Given the description of an element on the screen output the (x, y) to click on. 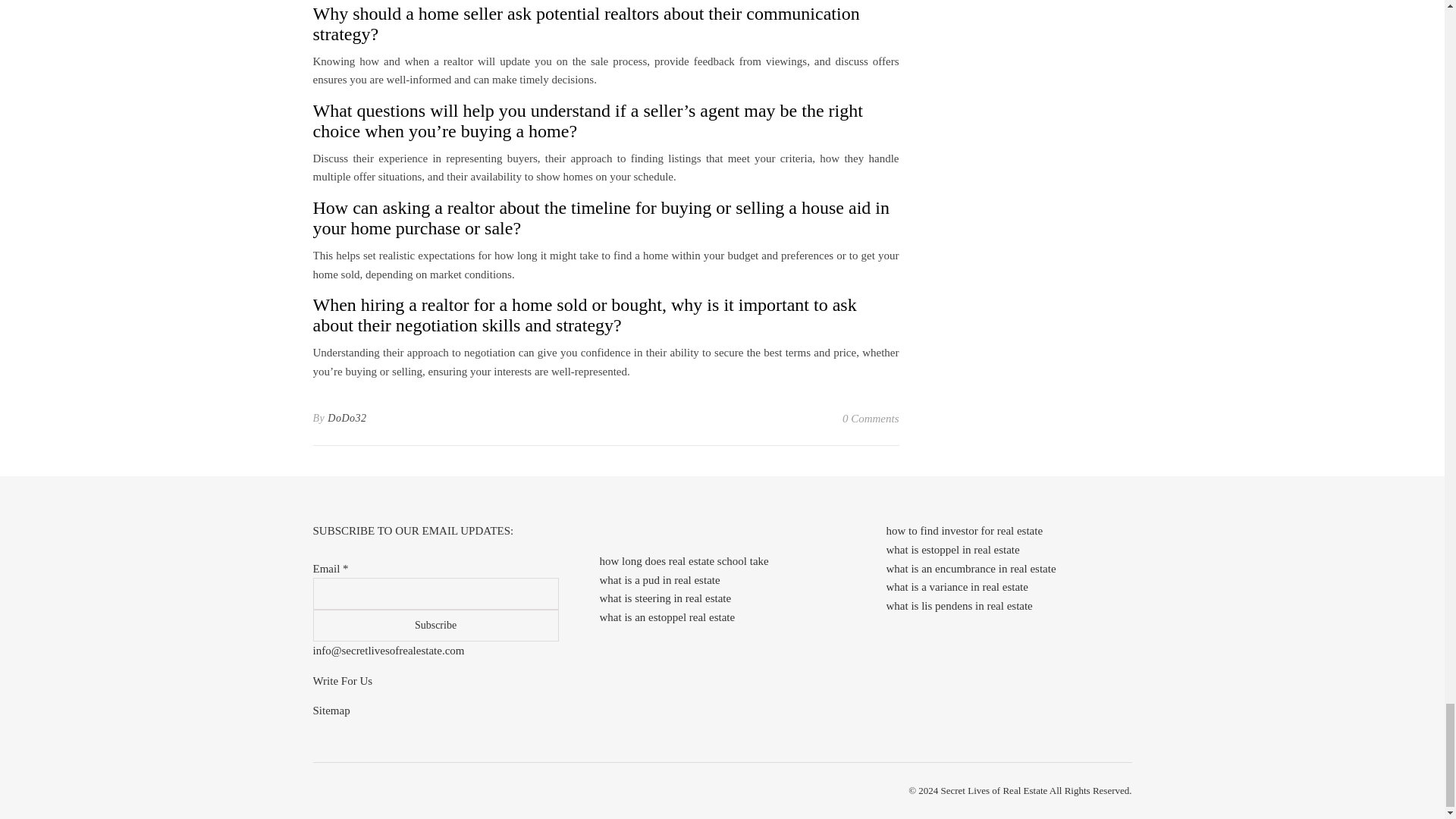
what is an estoppel real estate (666, 616)
what is steering in real estate (664, 598)
0 Comments (871, 418)
what is estoppel in real estate (952, 549)
what is a pud in real estate (658, 580)
how to find investor for real estate (963, 530)
Subscribe (435, 625)
Write For Us (342, 680)
DoDo32 (346, 418)
how long does real estate school take (683, 561)
Sitemap (331, 710)
Subscribe (435, 625)
Posts by DoDo32 (346, 418)
